Given the description of an element on the screen output the (x, y) to click on. 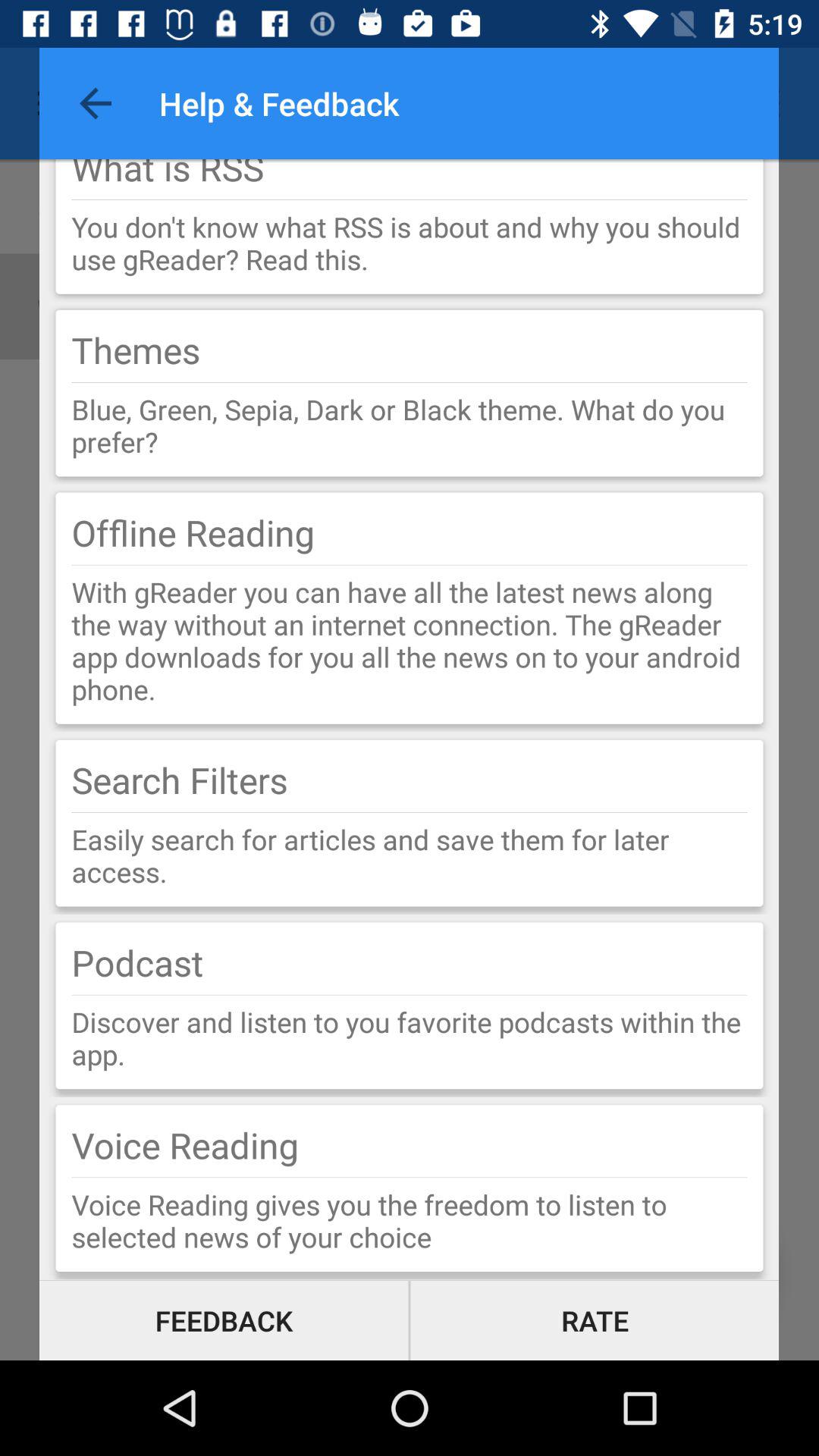
select the discover and listen (409, 1038)
